Given the description of an element on the screen output the (x, y) to click on. 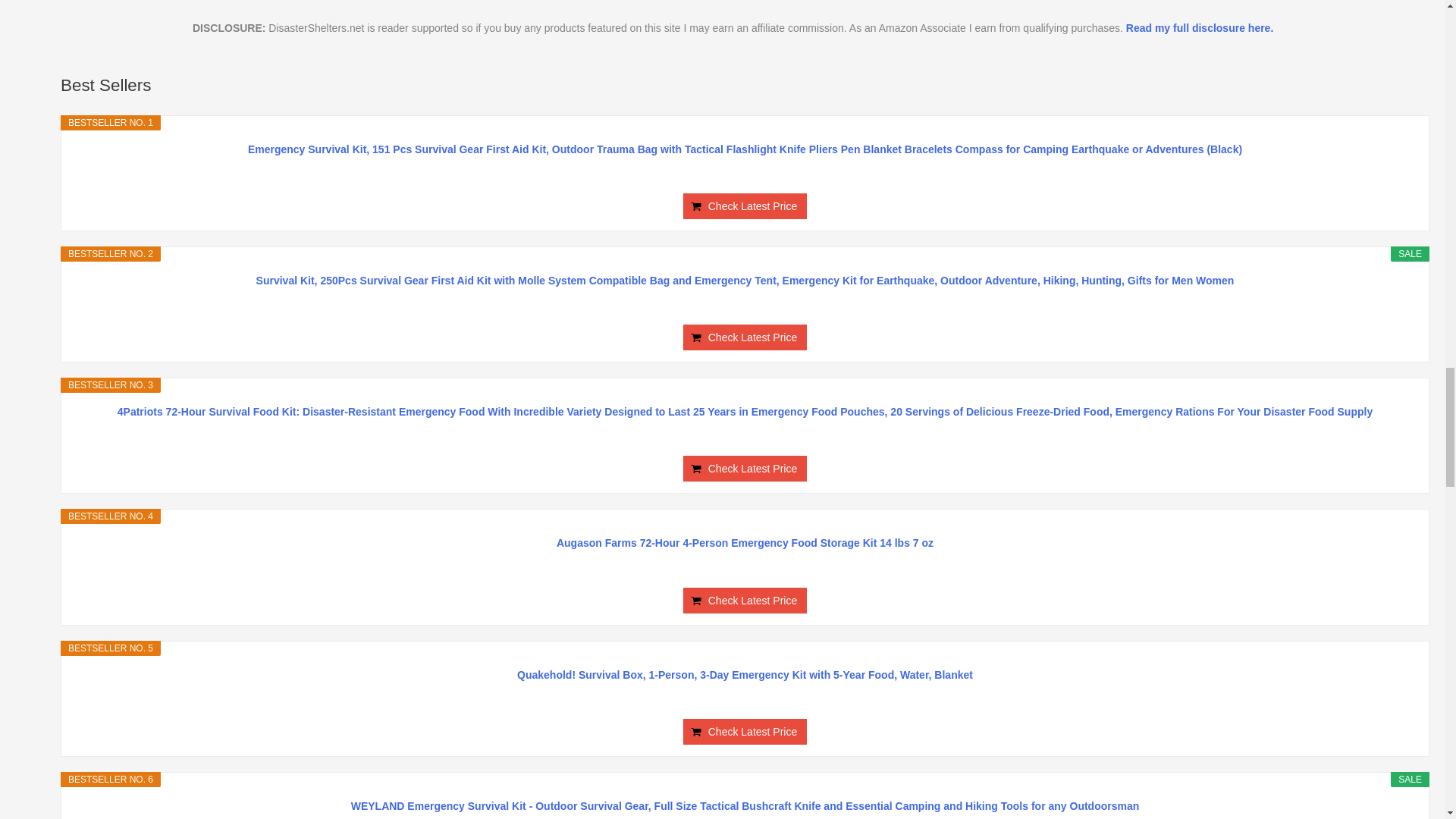
Check Latest Price (745, 337)
Check Latest Price (745, 337)
Check Latest Price (745, 206)
Check Latest Price (745, 600)
Check Latest Price (745, 468)
